Given the description of an element on the screen output the (x, y) to click on. 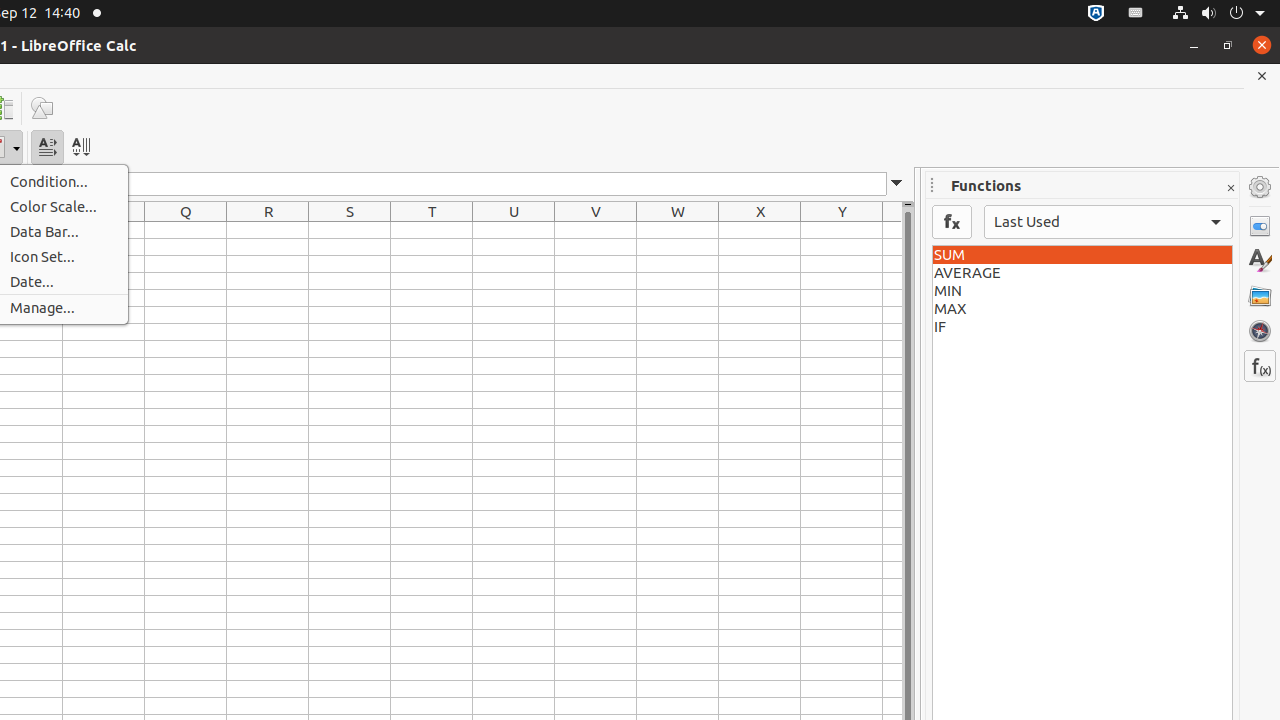
:1.72/StatusNotifierItem Element type: menu (1096, 13)
System Element type: menu (1218, 13)
:1.21/StatusNotifierItem Element type: menu (1136, 13)
